Given the description of an element on the screen output the (x, y) to click on. 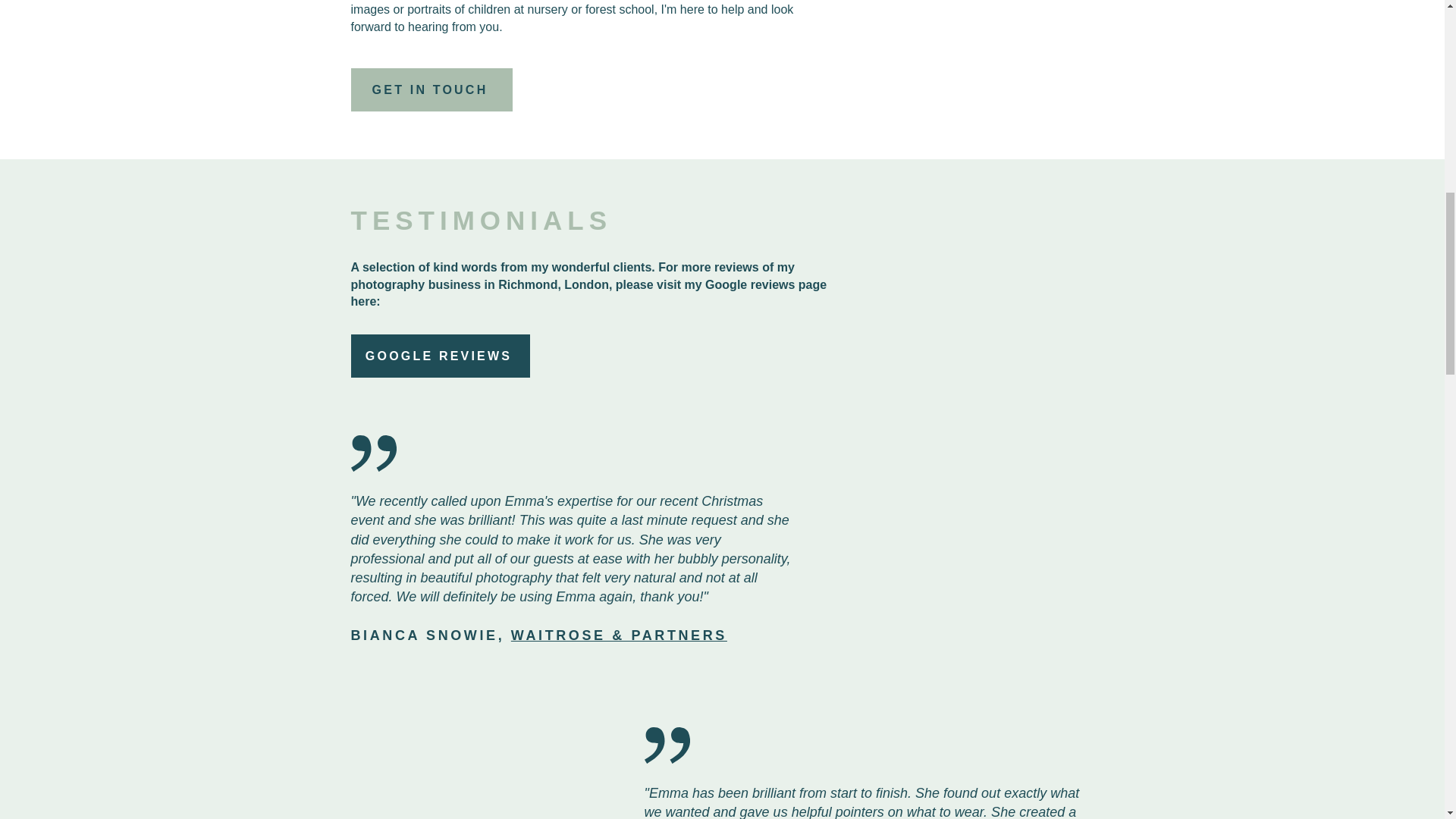
GOOGLE REVIEWS (439, 355)
GET IN TOUCH (431, 89)
